Given the description of an element on the screen output the (x, y) to click on. 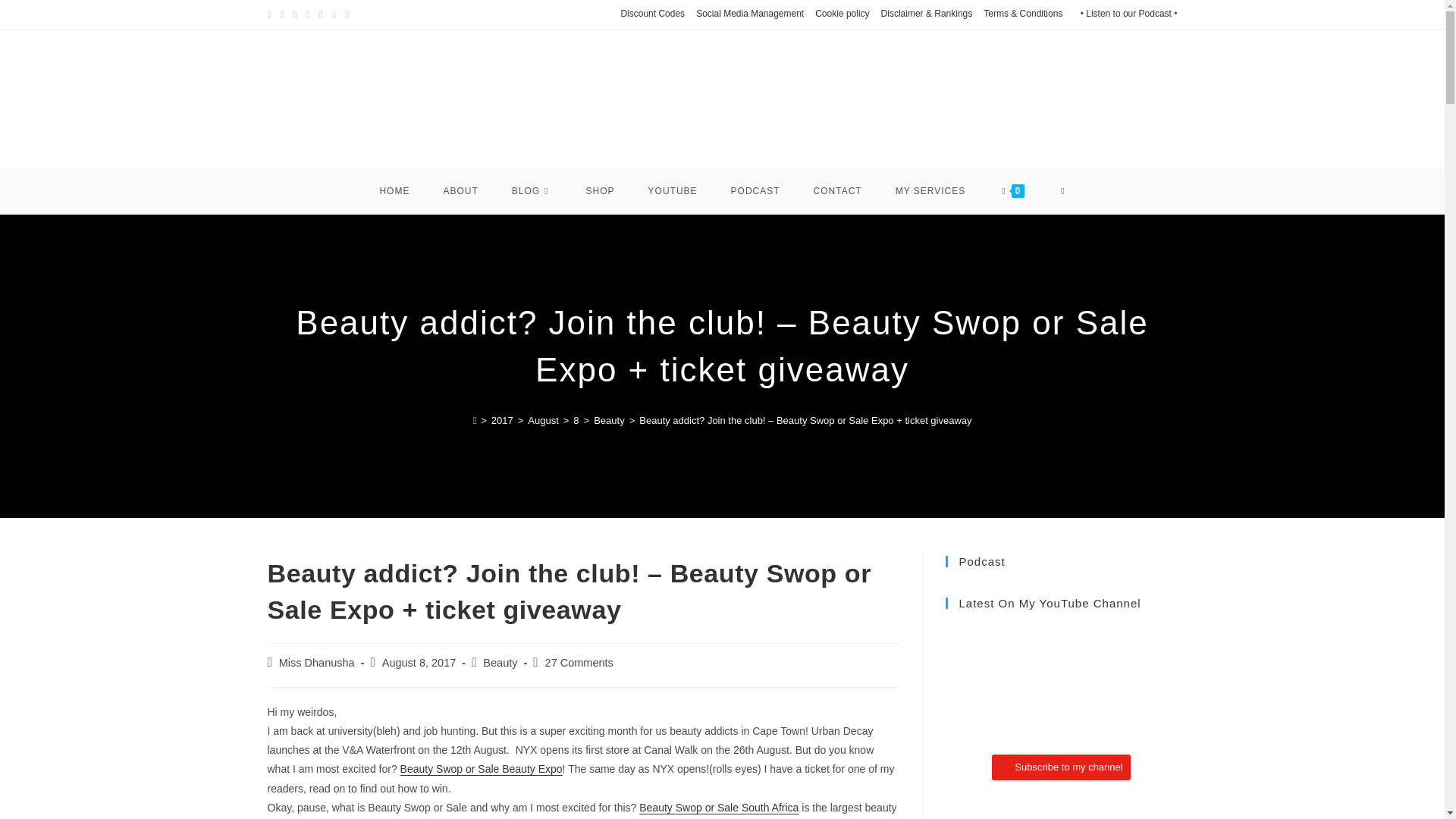
PODCAST (755, 190)
Posts by Miss Dhanusha (317, 662)
MY SERVICES (930, 190)
HOME (394, 190)
CONTACT (837, 190)
ABOUT (460, 190)
Listen to our Podcast (1129, 13)
Discount Codes (652, 13)
Cookie policy (842, 13)
BLOG (532, 190)
Social Media Management (749, 13)
YOUTUBE (672, 190)
SHOP (600, 190)
YouTube player (1060, 680)
